Given the description of an element on the screen output the (x, y) to click on. 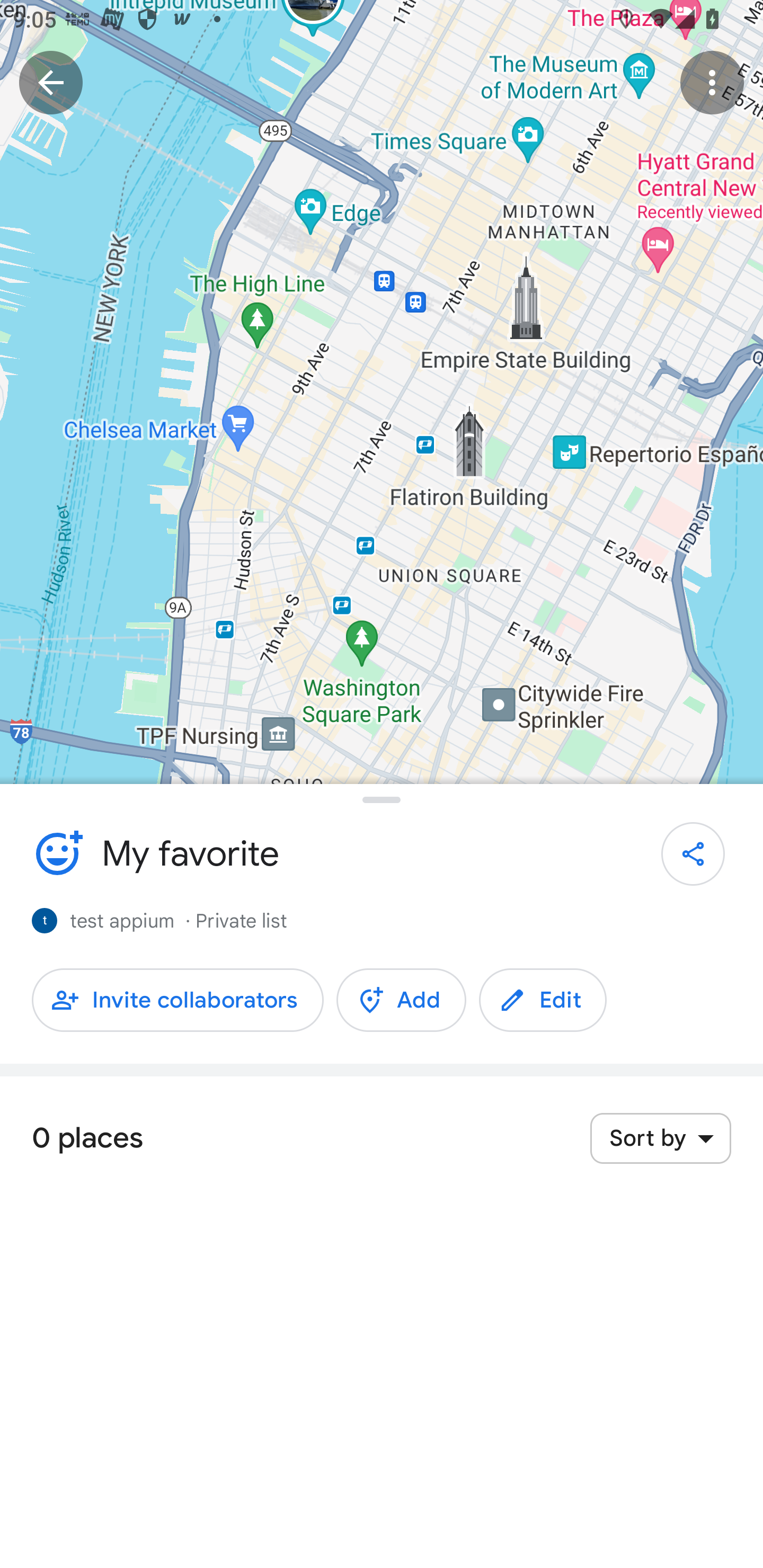
Navigate up (50, 81)
Overflow menu (711, 81)
Share (692, 853)
Edit list (57, 853)
Add Add Add (401, 1000)
Edit Edit Edit (542, 1000)
Sort by Sort by Sort by (660, 1138)
